Given the description of an element on the screen output the (x, y) to click on. 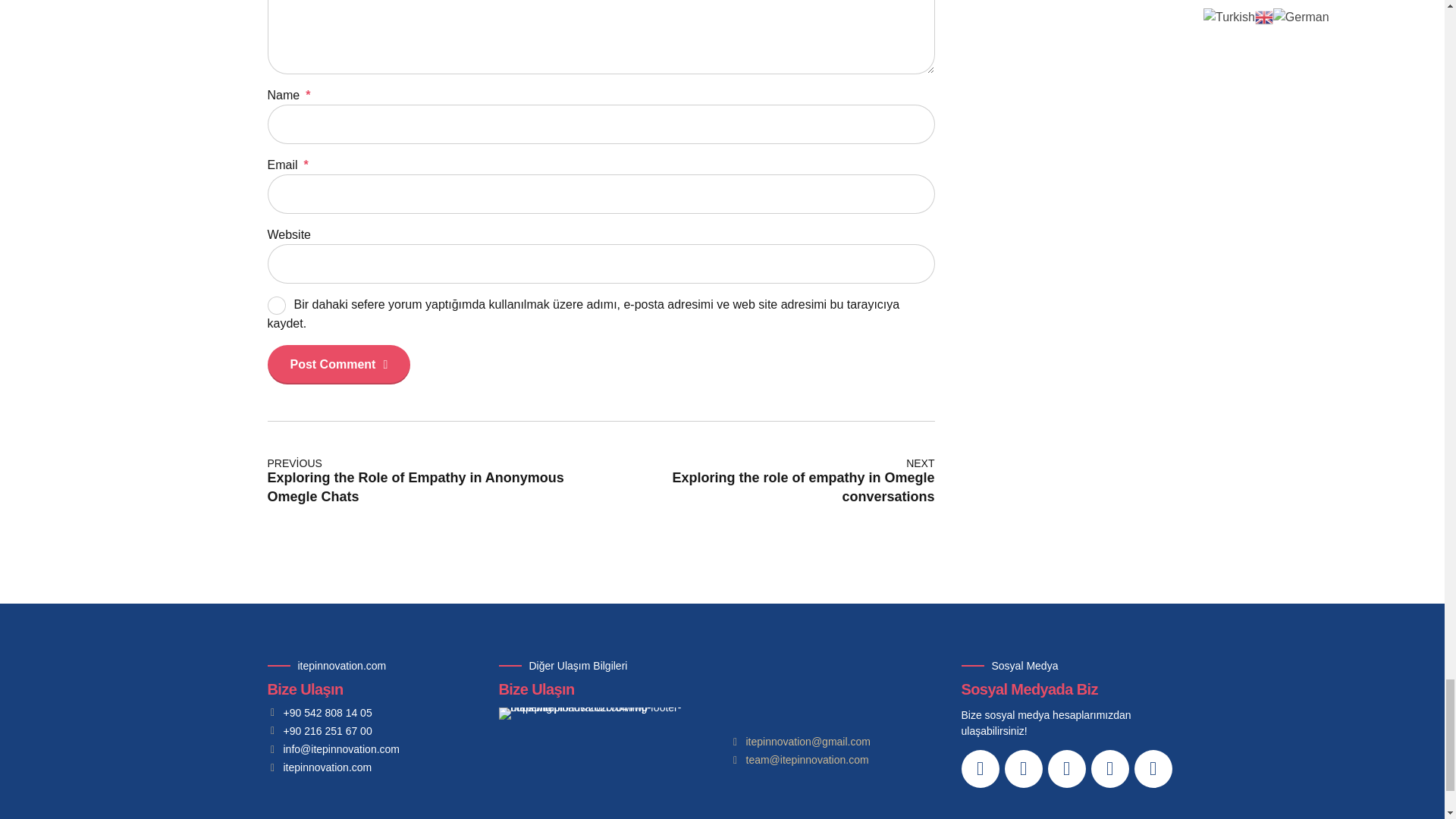
yes (275, 305)
Post Comment (766, 481)
itepinnovation.com (338, 364)
